Given the description of an element on the screen output the (x, y) to click on. 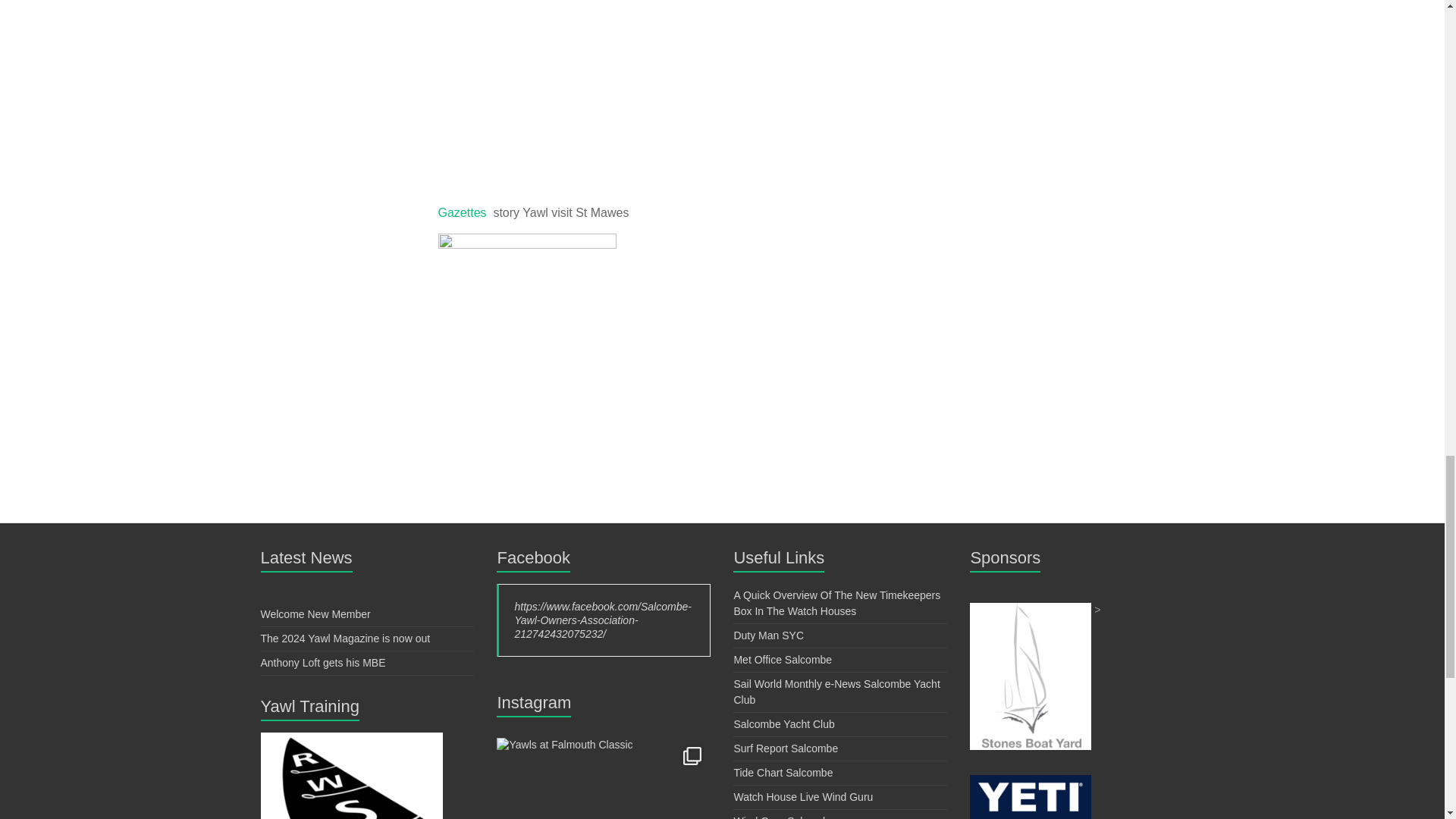
Advertisement (1029, 781)
wood boat (524, 89)
Advertisement (351, 739)
Advertisement (1029, 609)
